Given the description of an element on the screen output the (x, y) to click on. 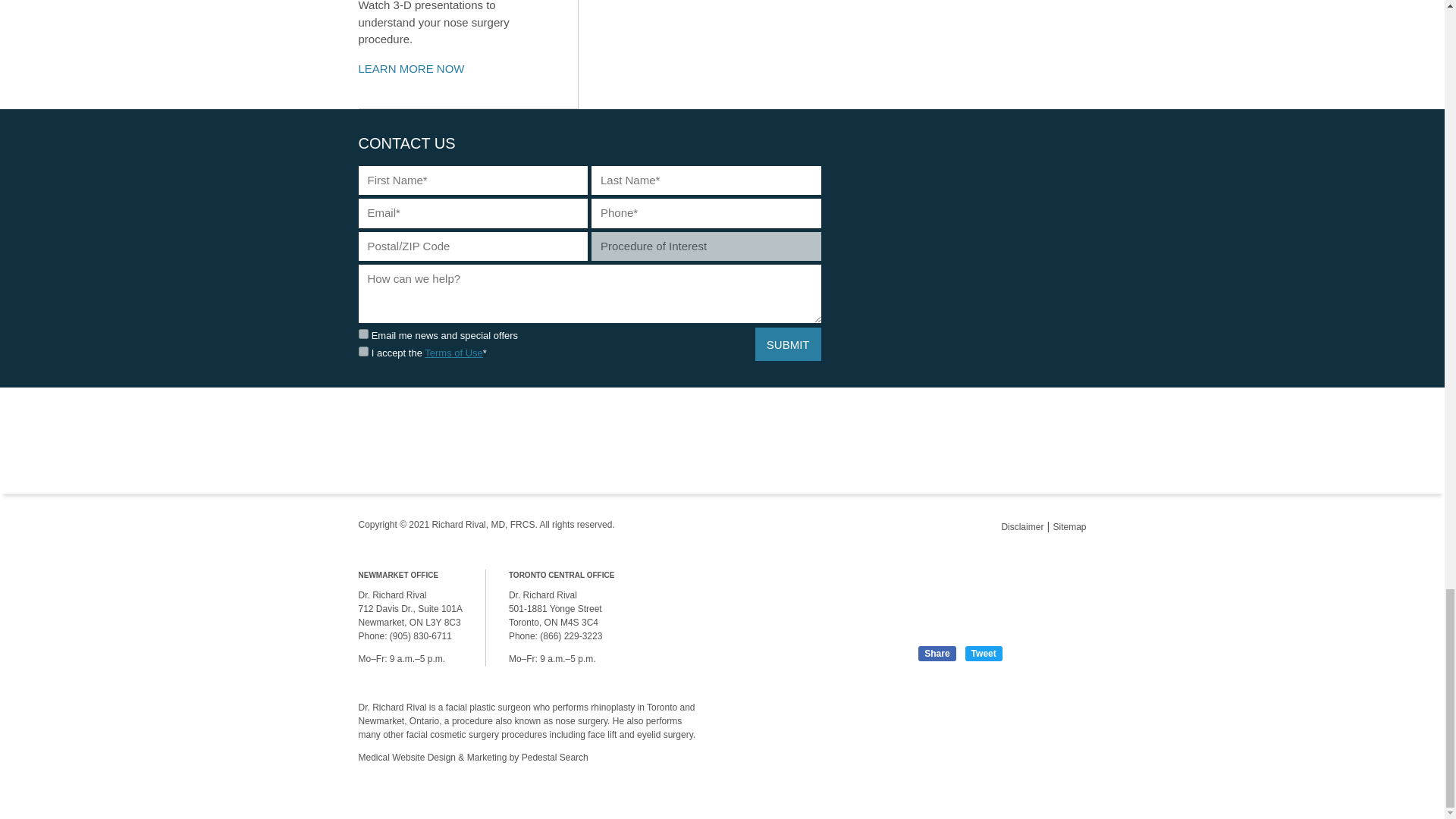
Share on Facebook (936, 653)
Learn More Now (419, 68)
Accept Terms (363, 351)
Submit (788, 344)
Share on Twitter (984, 653)
Subscribe (363, 334)
Pinterest (1040, 716)
Twitter (1070, 716)
See Your New Nose Now! Download the Free iPhone App (960, 601)
Learn More Now (467, 53)
Instagram (978, 716)
Facebook (1009, 716)
